Given the description of an element on the screen output the (x, y) to click on. 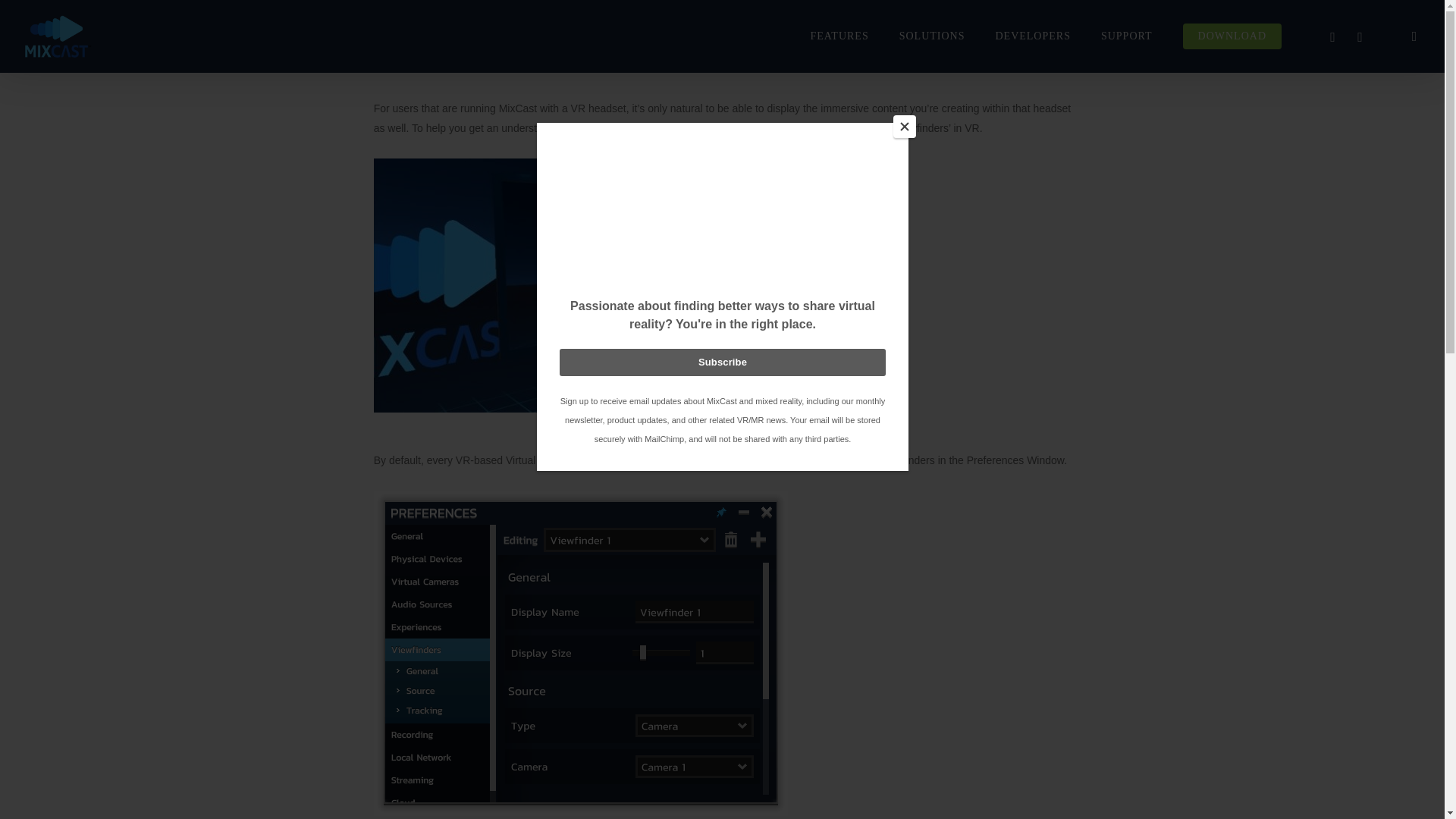
SOLUTIONS (931, 36)
account (1414, 36)
EMAIL (1360, 36)
DISCORD (1332, 36)
SUPPORT (1126, 36)
FEATURES (838, 36)
DOWNLOAD (1231, 36)
DEVELOPERS (1031, 36)
